Given the description of an element on the screen output the (x, y) to click on. 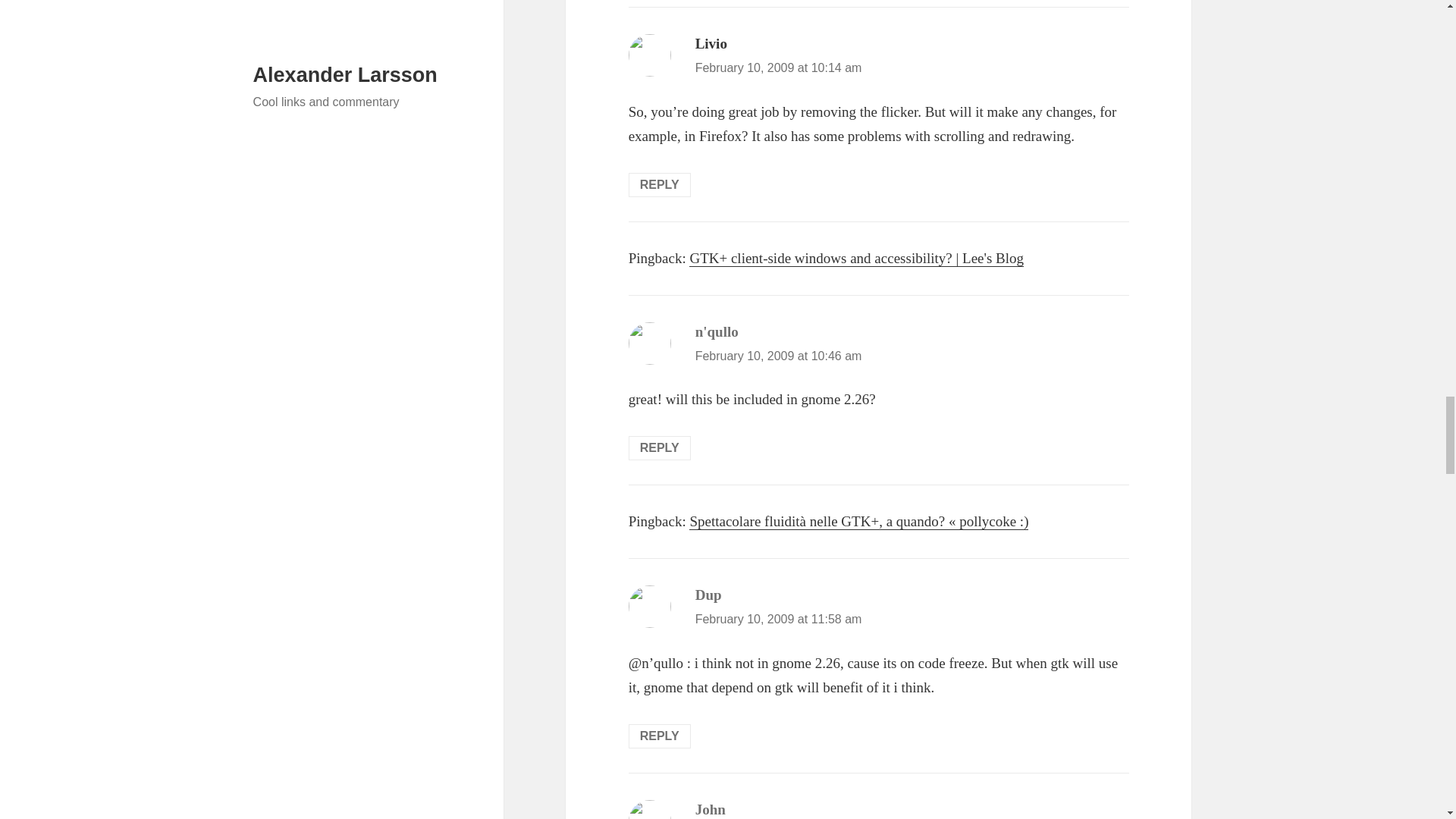
February 10, 2009 at 10:46 am (778, 355)
REPLY (659, 735)
February 10, 2009 at 10:14 am (778, 67)
REPLY (659, 184)
Livio (710, 43)
February 10, 2009 at 11:58 am (778, 618)
REPLY (659, 447)
